Given the description of an element on the screen output the (x, y) to click on. 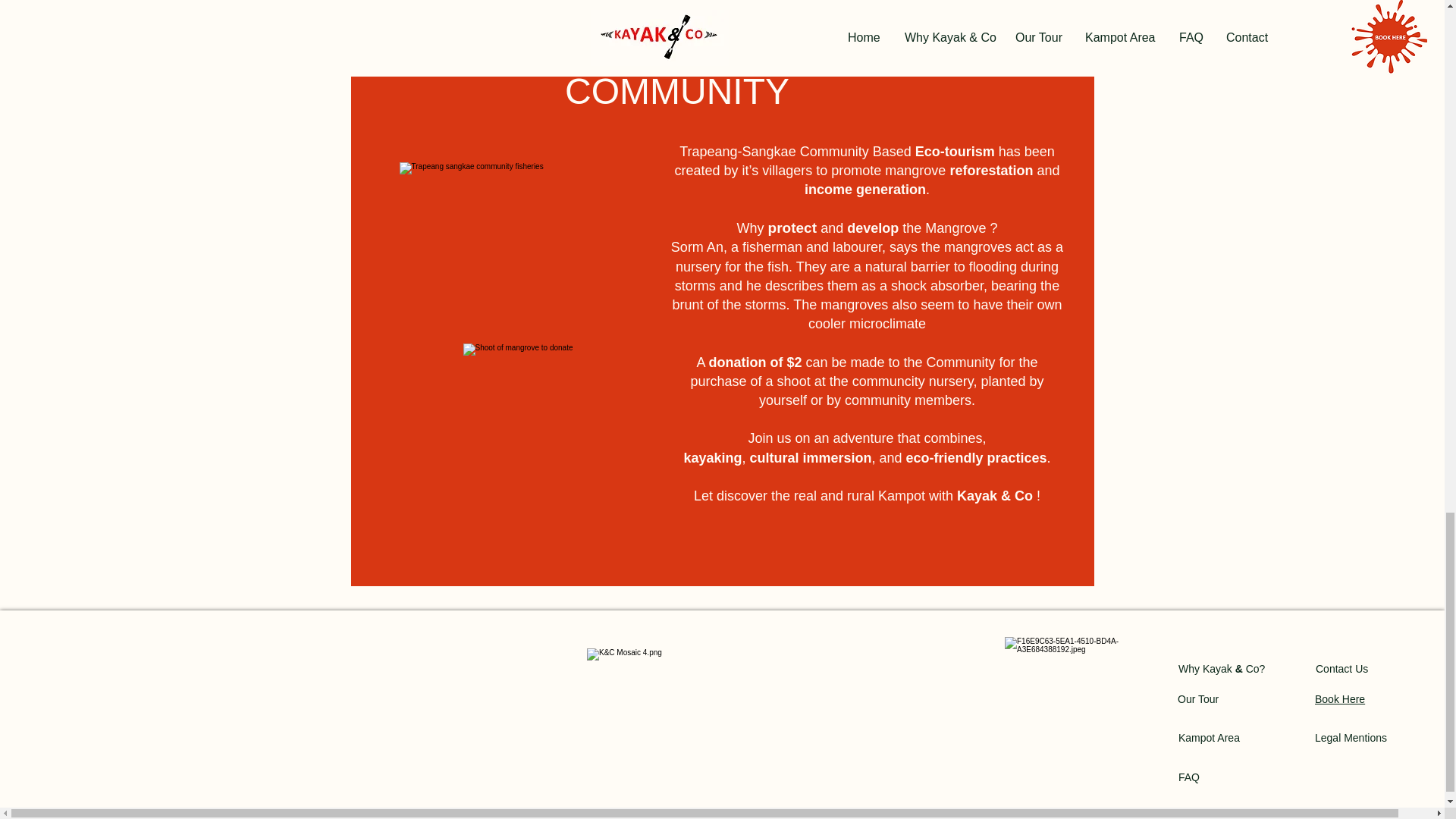
FAQ (1188, 776)
Beige and Brown Pastel Simple Minimalist (1032, 57)
Kampot Area (1208, 737)
logo KC.png (1069, 702)
Book Here (1339, 698)
Our Tour (1197, 698)
Contact Us (1342, 668)
Legal Mentions (1350, 737)
